Given the description of an element on the screen output the (x, y) to click on. 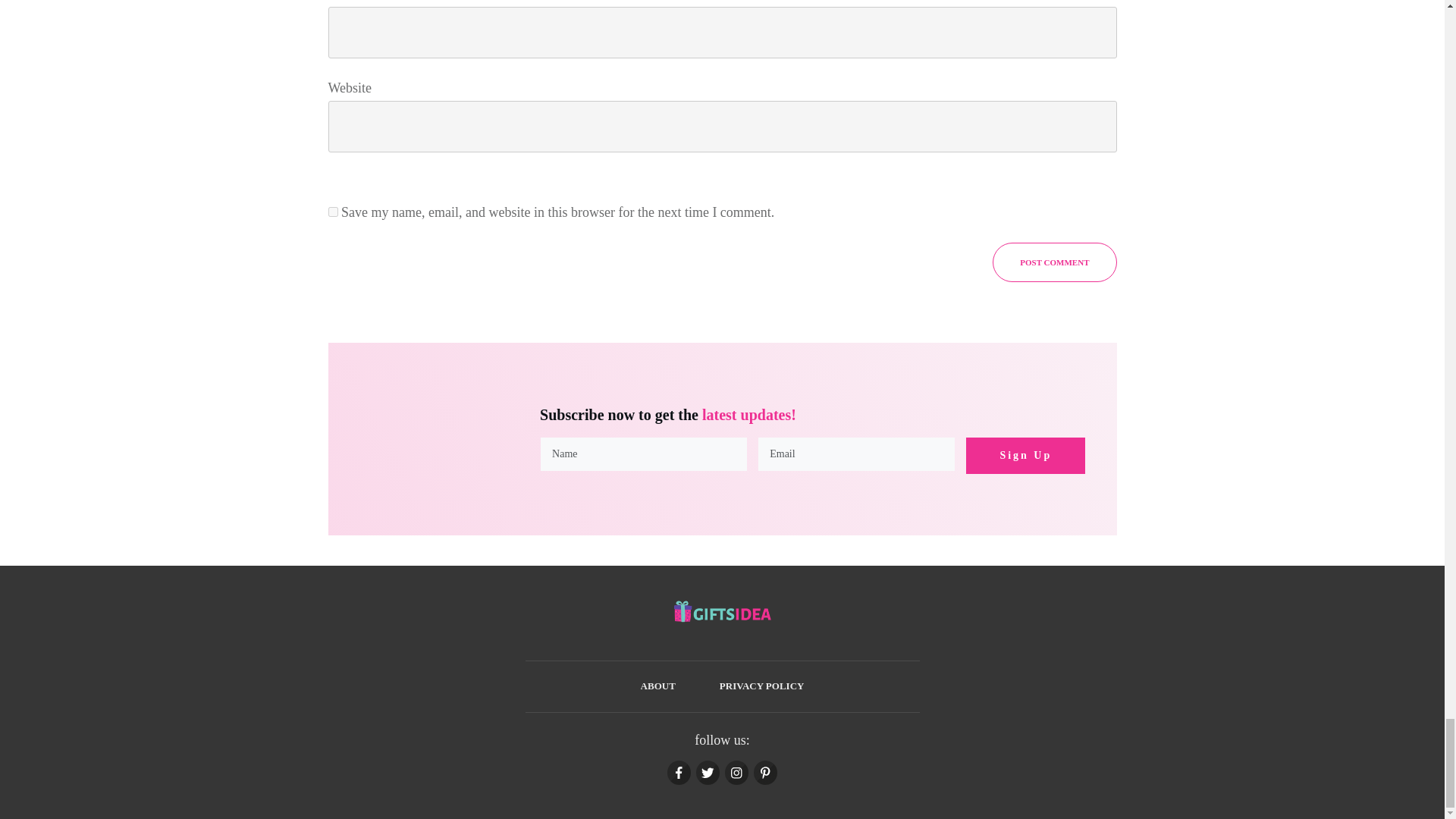
yes (332, 212)
PRIVACY POLICY (762, 686)
ABOUT (657, 686)
POST COMMENT (1054, 261)
Sign Up (1025, 455)
